Given the description of an element on the screen output the (x, y) to click on. 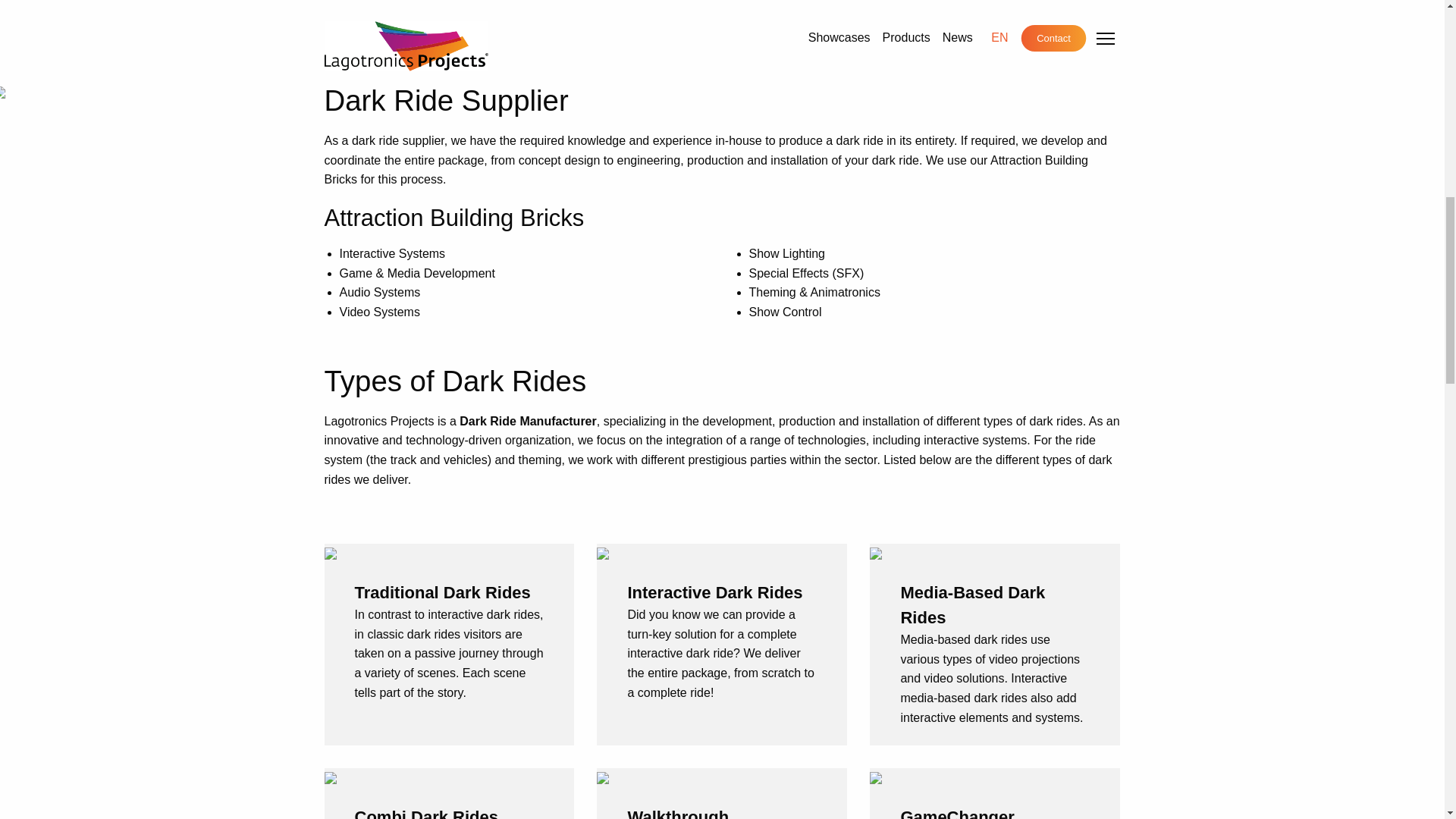
Traditional Dark Rides (443, 592)
Interactive Dark Rides (714, 592)
Get in touch (721, 14)
GameChanger (956, 813)
Combi Dark Rides (427, 813)
Media-Based Dark Rides (972, 605)
Walkthrough Attractions (678, 813)
